Given the description of an element on the screen output the (x, y) to click on. 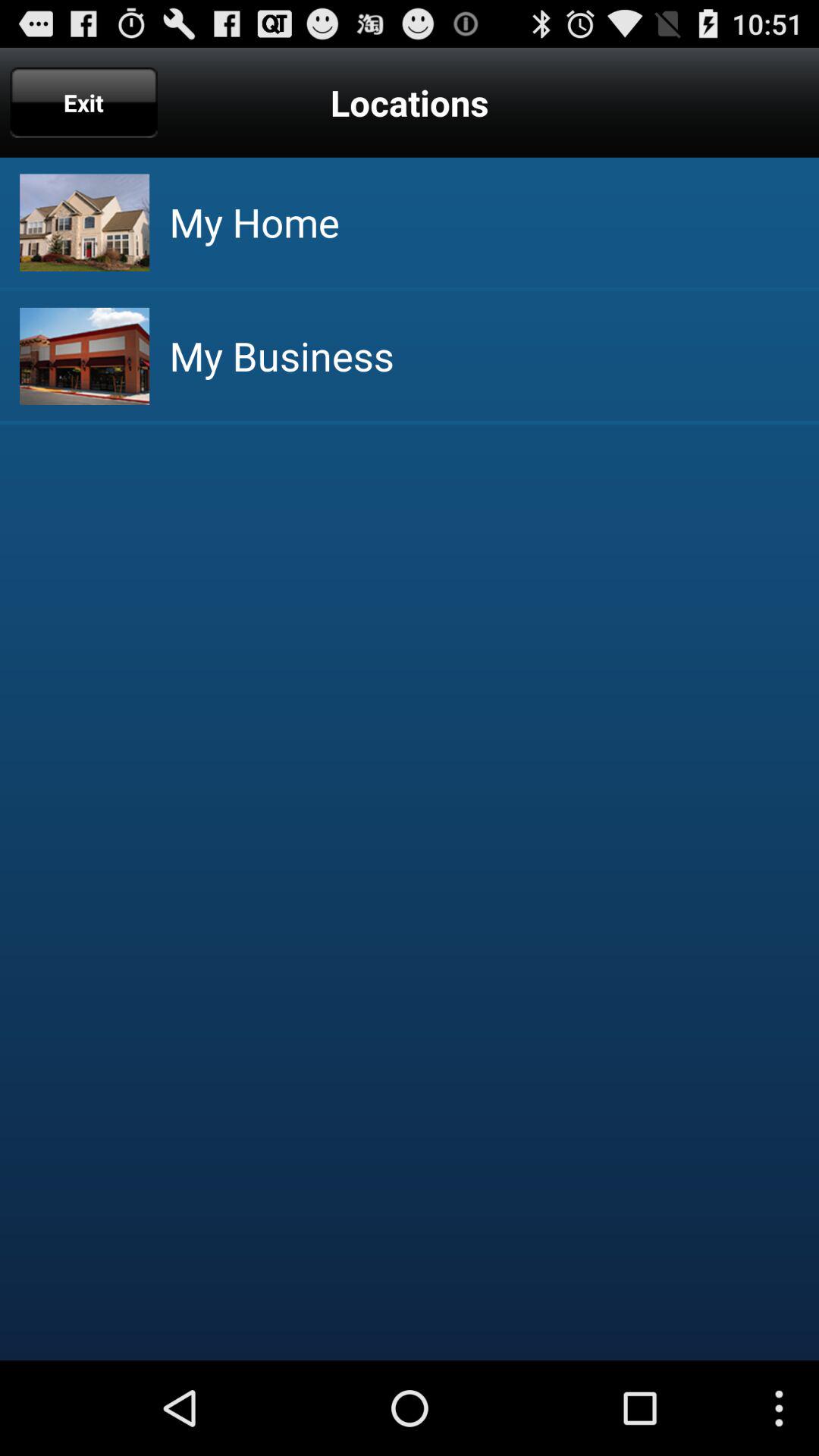
launch the icon to the left of locations item (83, 102)
